Given the description of an element on the screen output the (x, y) to click on. 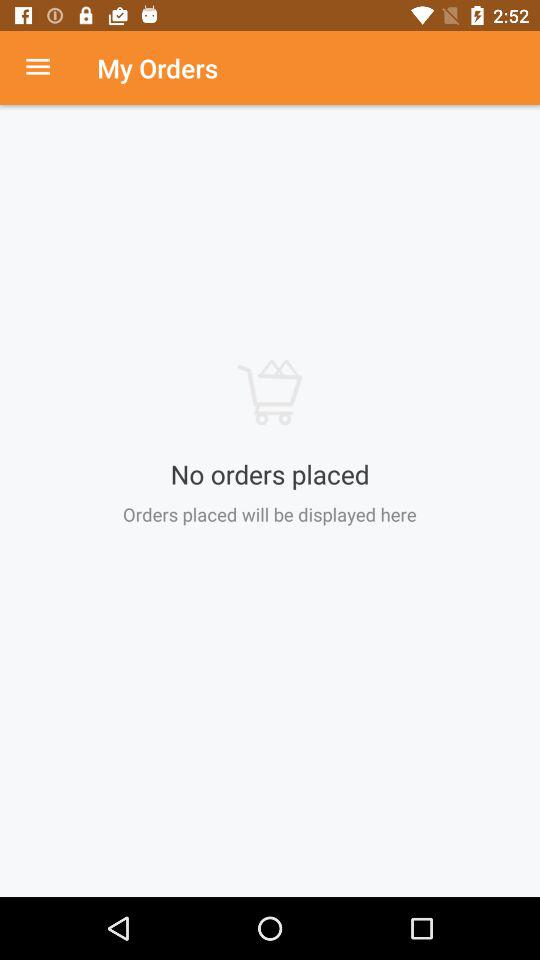
choose menu (48, 67)
